Given the description of an element on the screen output the (x, y) to click on. 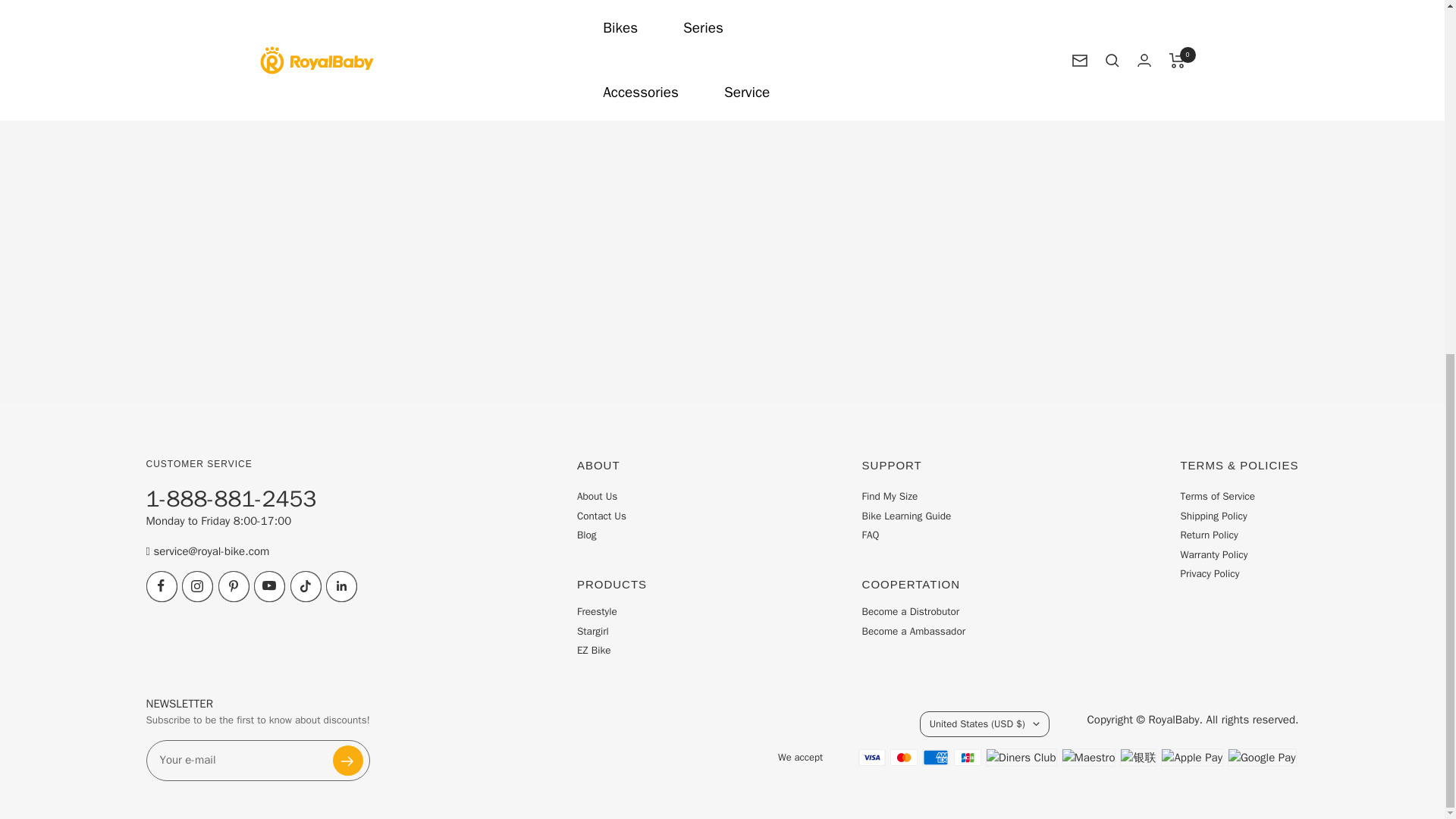
Register (347, 760)
